Given the description of an element on the screen output the (x, y) to click on. 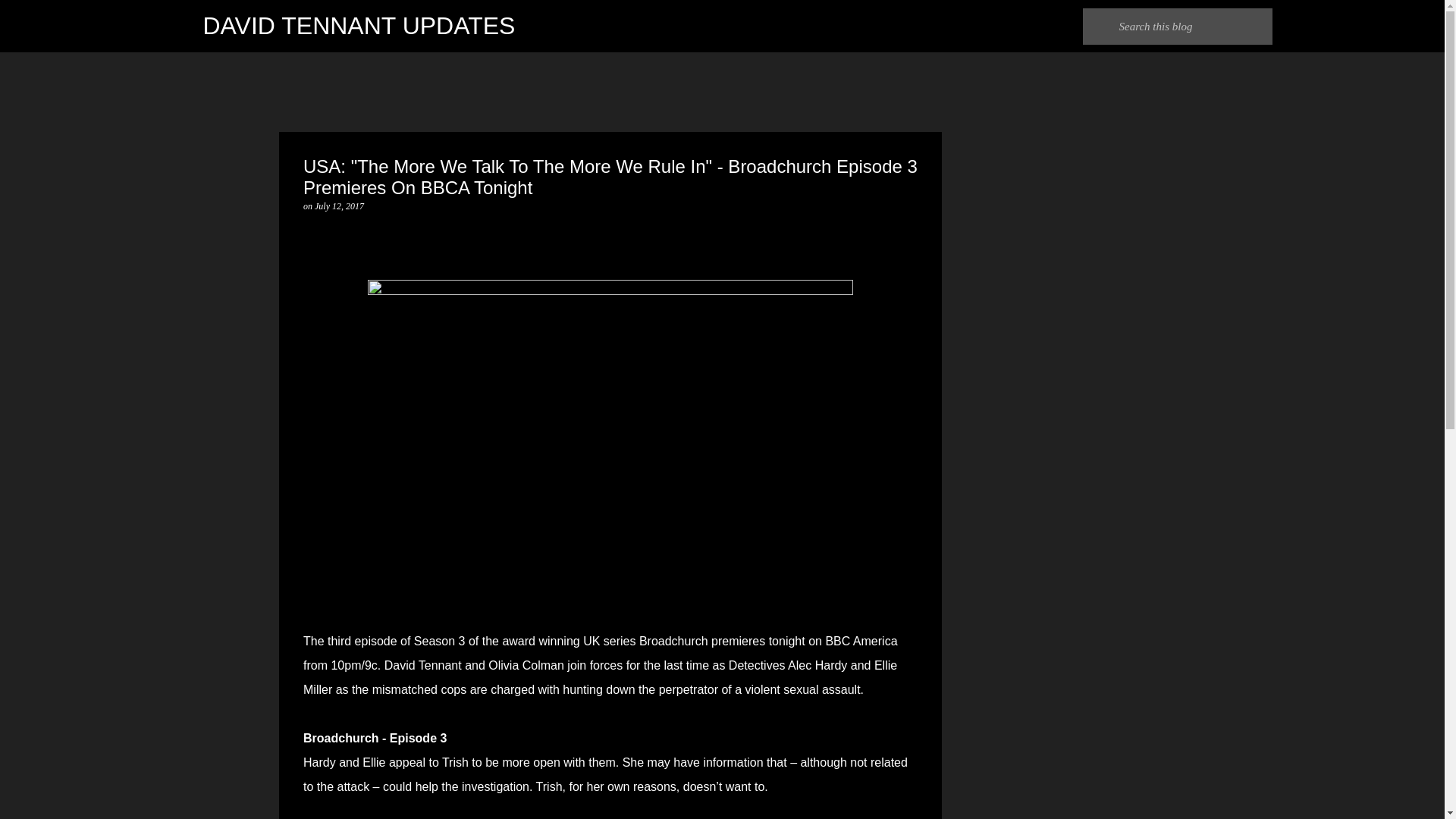
July 12, 2017 (339, 205)
permanent link (339, 205)
DAVID TENNANT UPDATES (359, 25)
